Given the description of an element on the screen output the (x, y) to click on. 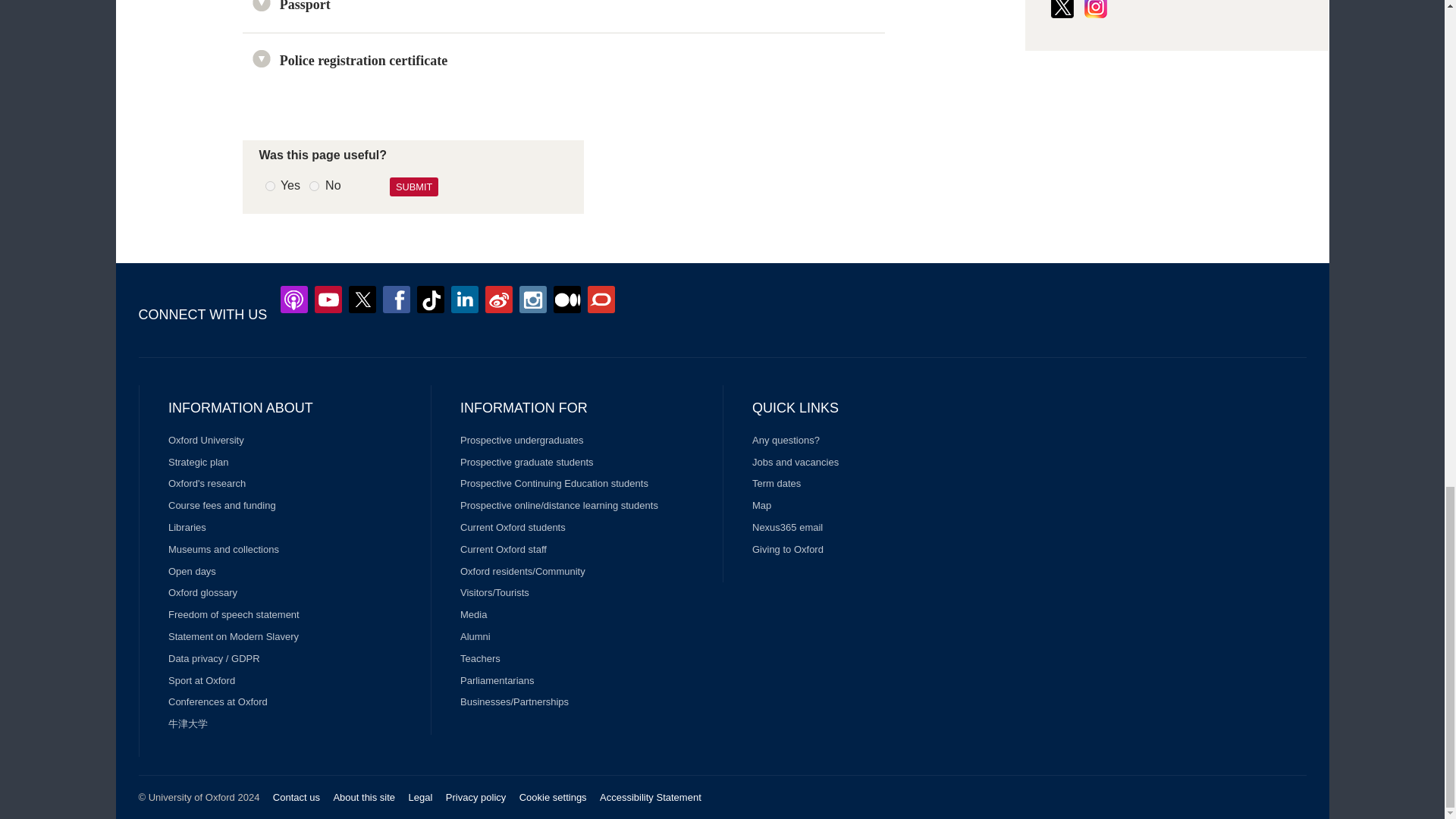
2 (313, 185)
Submit (414, 186)
1 (269, 185)
